Given the description of an element on the screen output the (x, y) to click on. 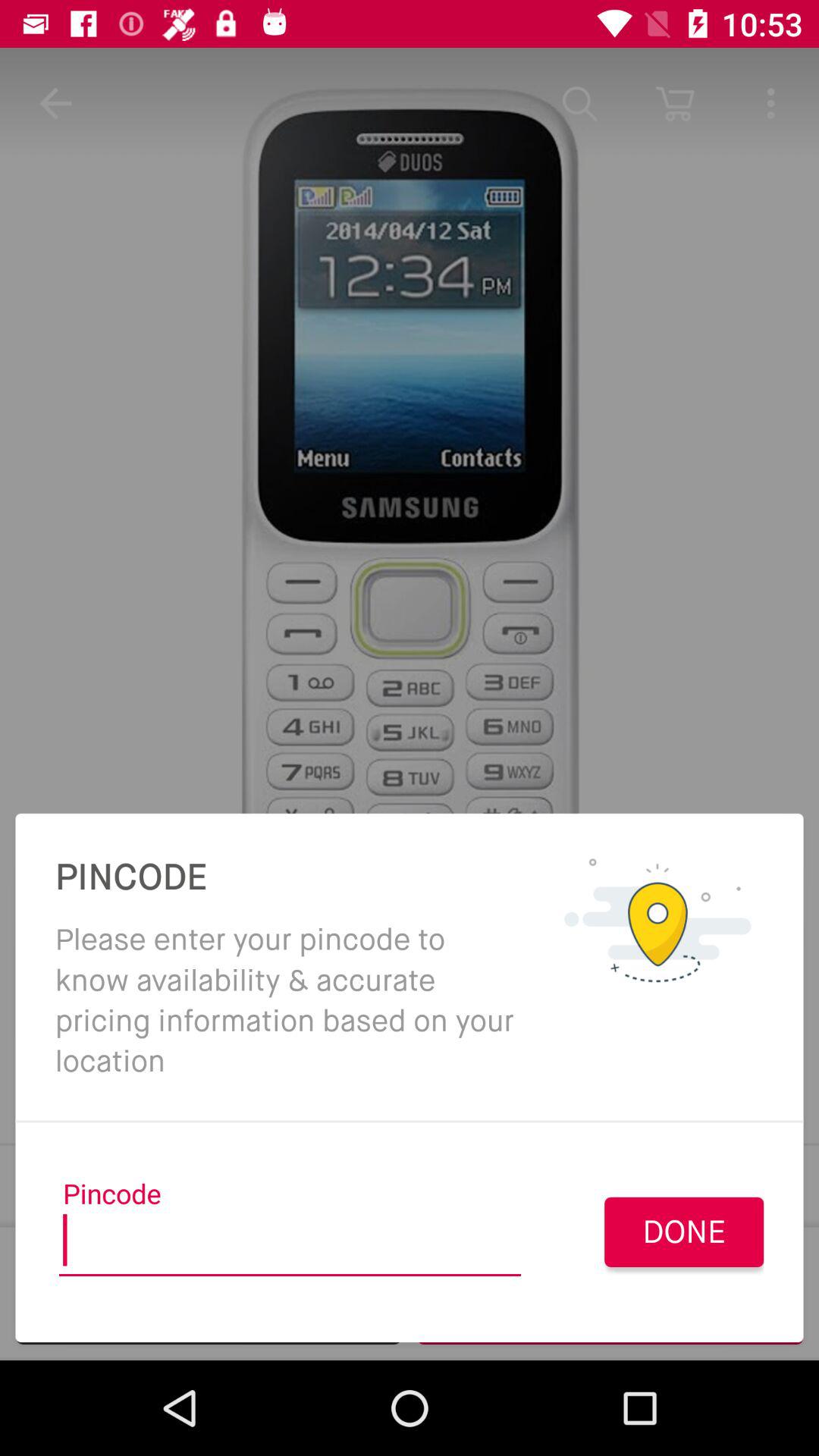
type pincode (289, 1245)
